Given the description of an element on the screen output the (x, y) to click on. 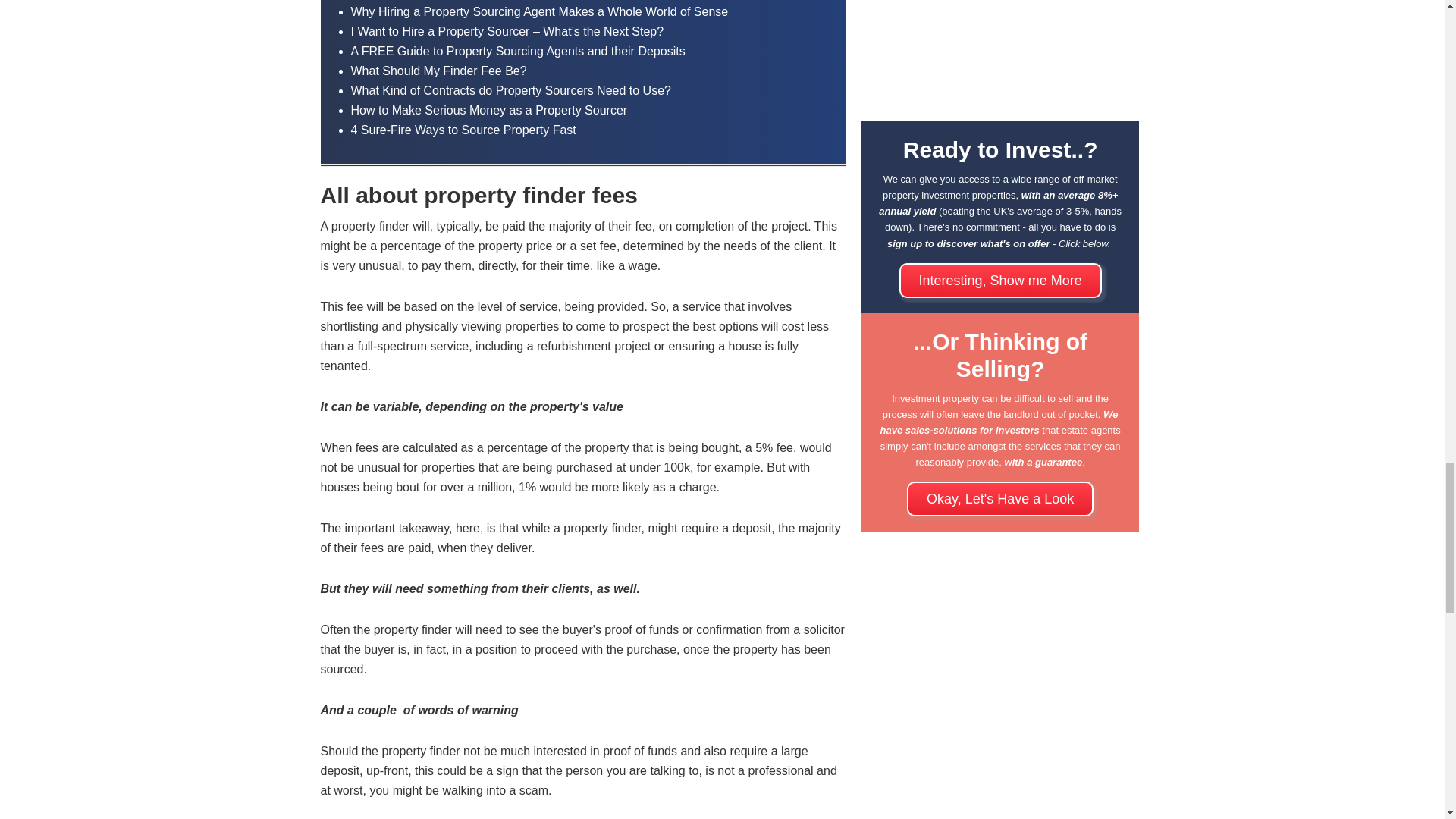
4 Sure-Fire Ways to Source Property Fast (462, 129)
What Kind of Contracts do Property Sourcers Need to Use? (509, 90)
A FREE Guide to Property Sourcing Agents and their Deposits (517, 51)
How to Make Serious Money as a Property Sourcer (488, 110)
What Should My Finder Fee Be? (437, 70)
